Given the description of an element on the screen output the (x, y) to click on. 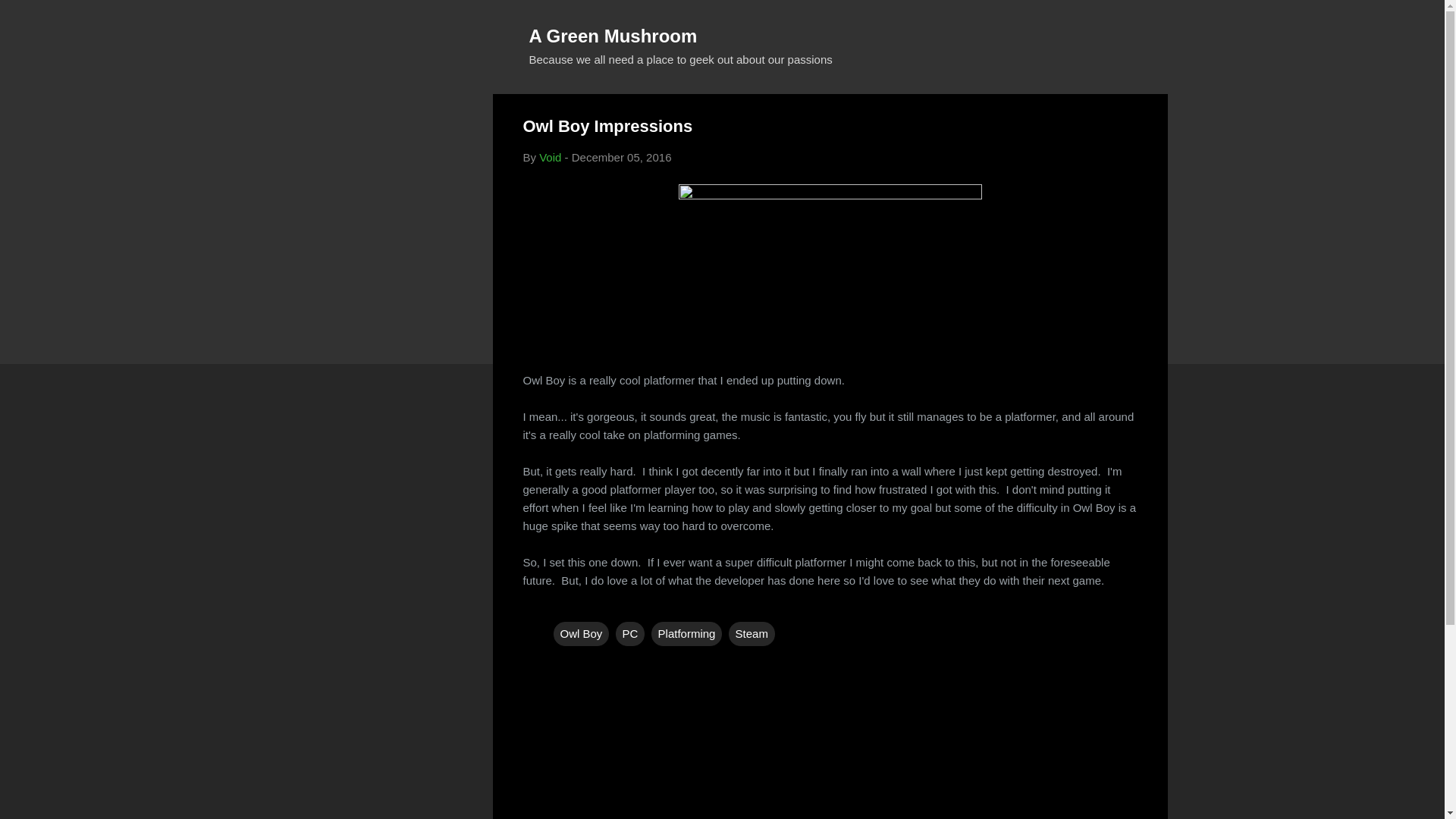
December 05, 2016 (621, 156)
Owl Boy (581, 633)
Steam (751, 633)
permanent link (621, 156)
Void (549, 156)
Platforming (686, 633)
author profile (549, 156)
PC (630, 633)
A Green Mushroom (613, 35)
Search (29, 18)
